Given the description of an element on the screen output the (x, y) to click on. 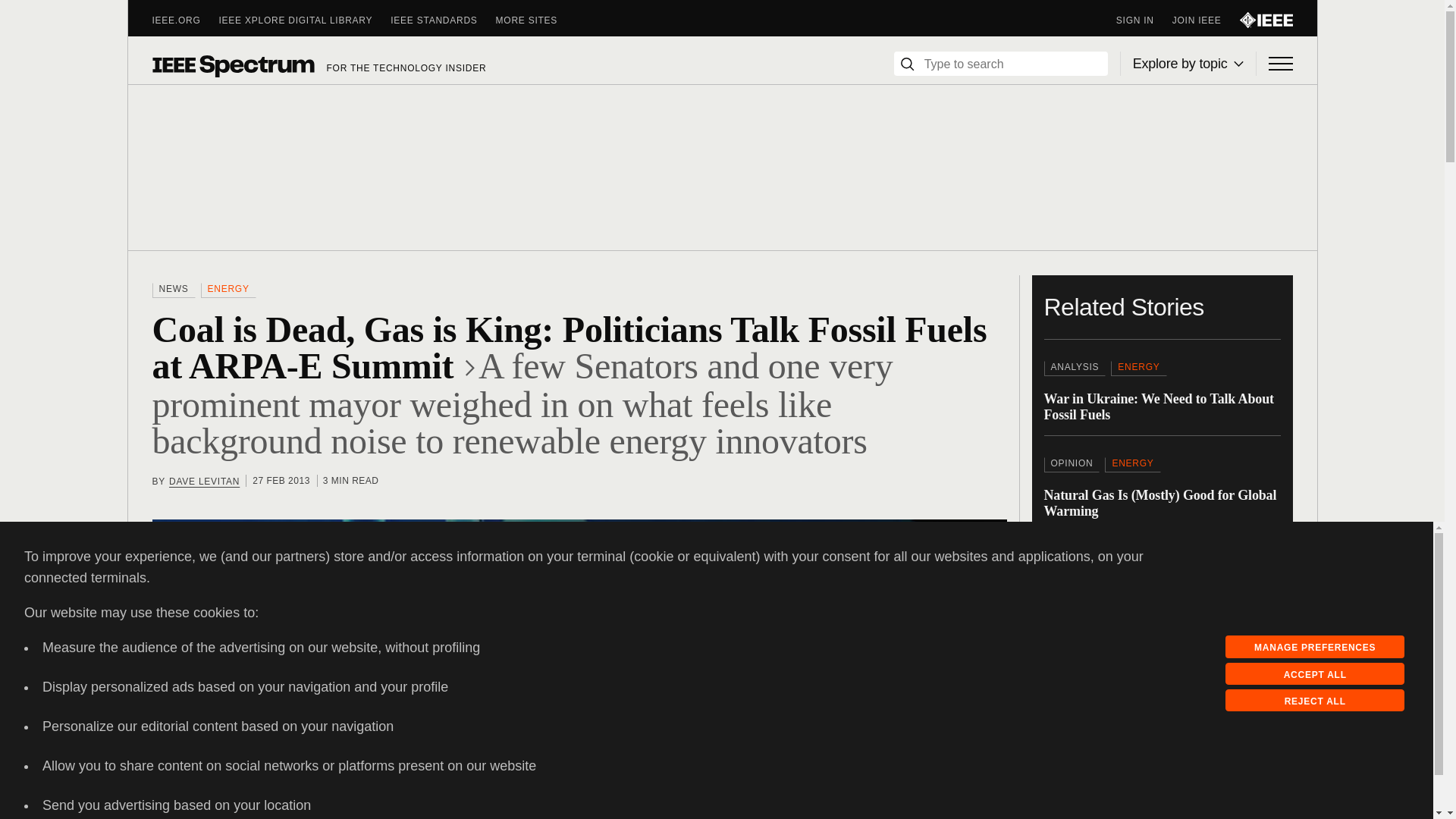
Spectrum Logo (232, 64)
IEEE STANDARDS (442, 20)
ACCEPT ALL (1315, 673)
Search (907, 63)
REJECT ALL (1315, 700)
MORE SITES (536, 20)
MANAGE PREFERENCES (1315, 646)
SIGN IN (1144, 20)
IEEE XPLORE DIGITAL LIBRARY (305, 20)
IEEE.ORG (184, 20)
